Given the description of an element on the screen output the (x, y) to click on. 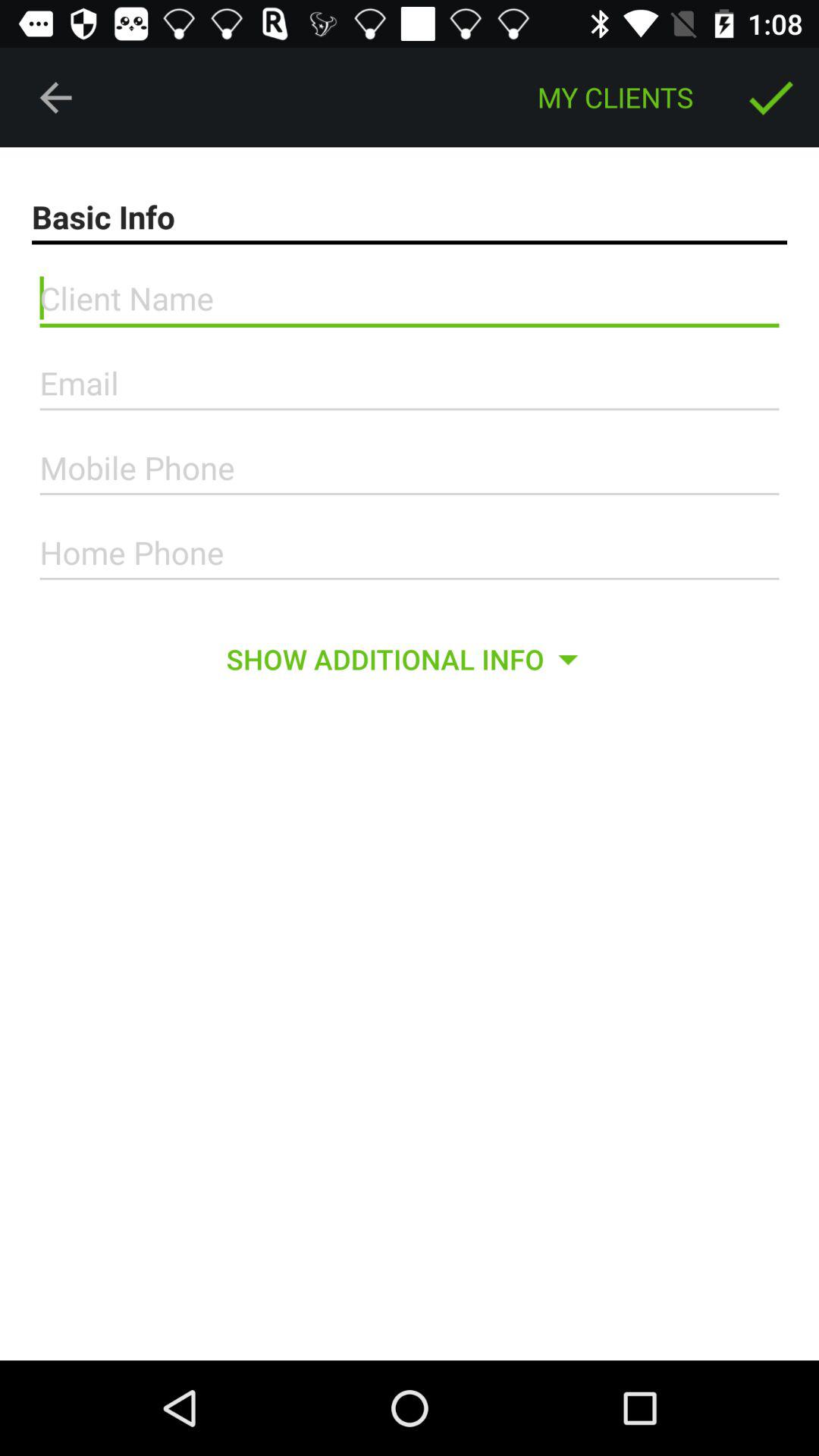
text area for home phone number (409, 552)
